Given the description of an element on the screen output the (x, y) to click on. 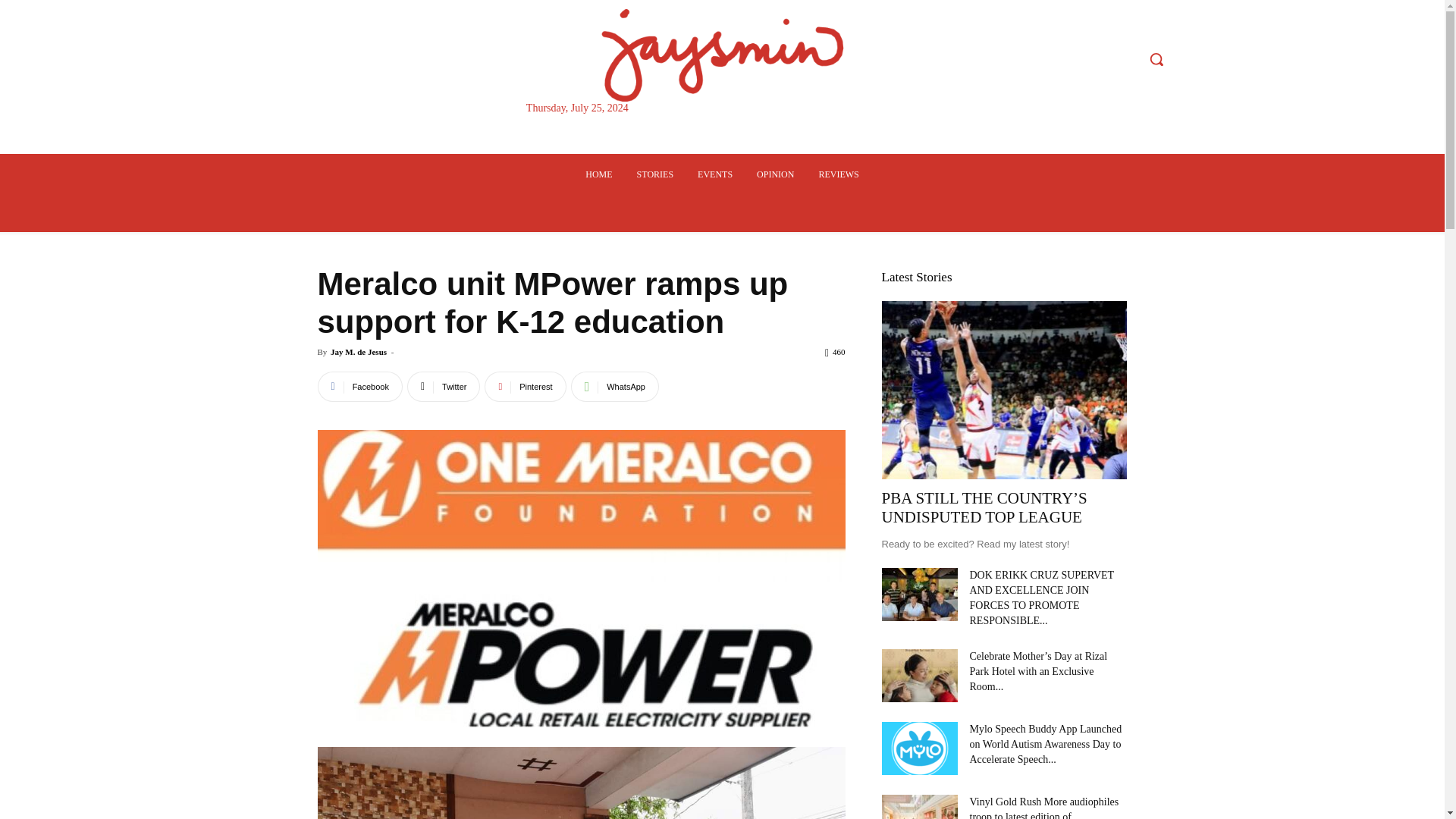
EVENTS (714, 174)
Facebook (359, 386)
Twitter (443, 386)
Pinterest (525, 386)
WhatsApp (614, 386)
HOME (598, 174)
REVIEWS (838, 174)
WhatsApp (614, 386)
Facebook (359, 386)
OPINION (775, 174)
Jay M. de Jesus (358, 351)
Twitter (443, 386)
Pinterest (525, 386)
STORIES (654, 174)
